Given the description of an element on the screen output the (x, y) to click on. 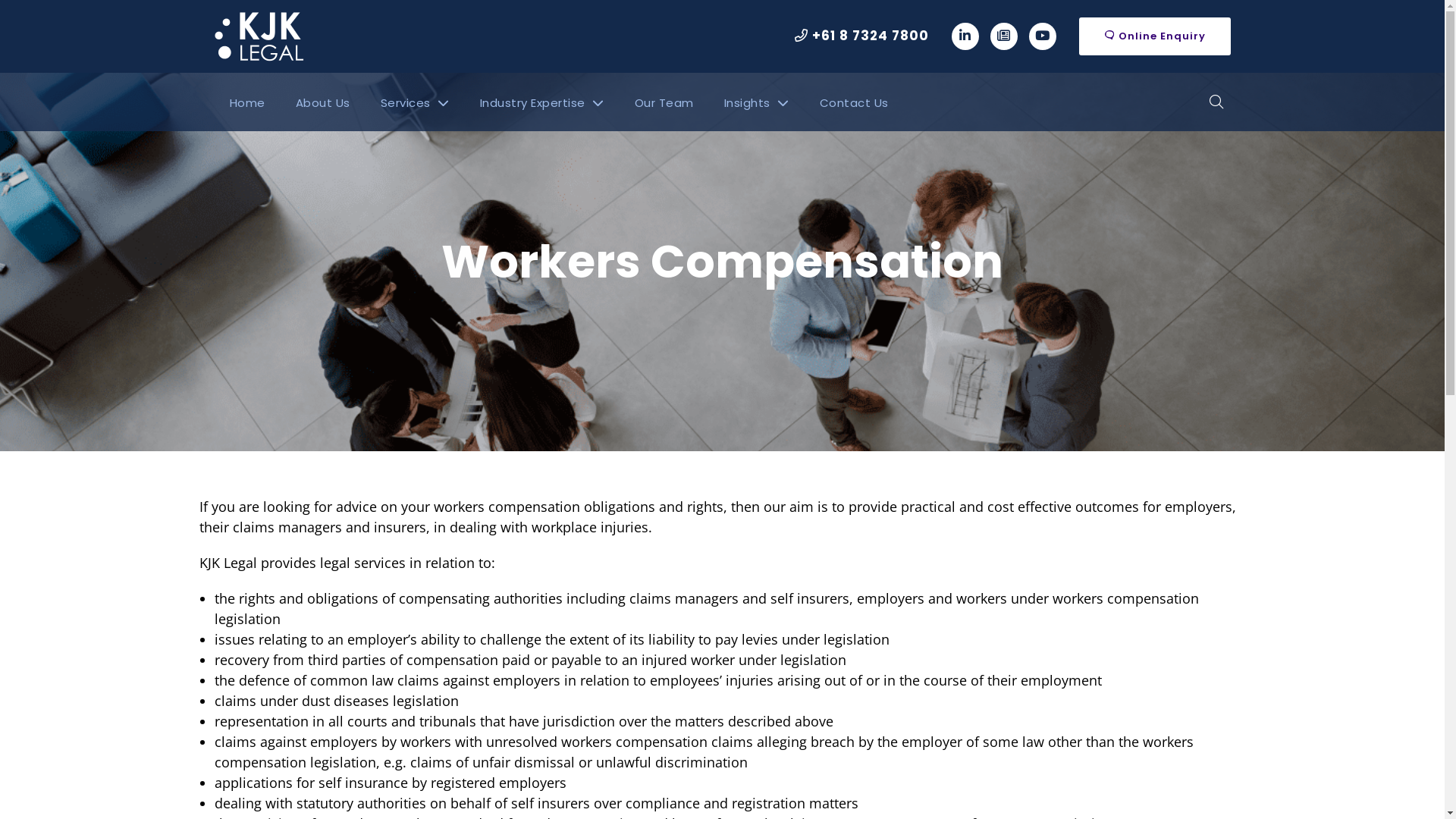
About Us Element type: text (322, 102)
Insights Element type: text (755, 102)
Home Element type: text (246, 102)
+61 8 7324 7800 Element type: text (861, 36)
Our Team Element type: text (663, 102)
Services Element type: text (414, 102)
Industry Expertise Element type: text (541, 102)
Contact Us Element type: text (853, 102)
Online Enquiry Element type: text (1154, 36)
